Given the description of an element on the screen output the (x, y) to click on. 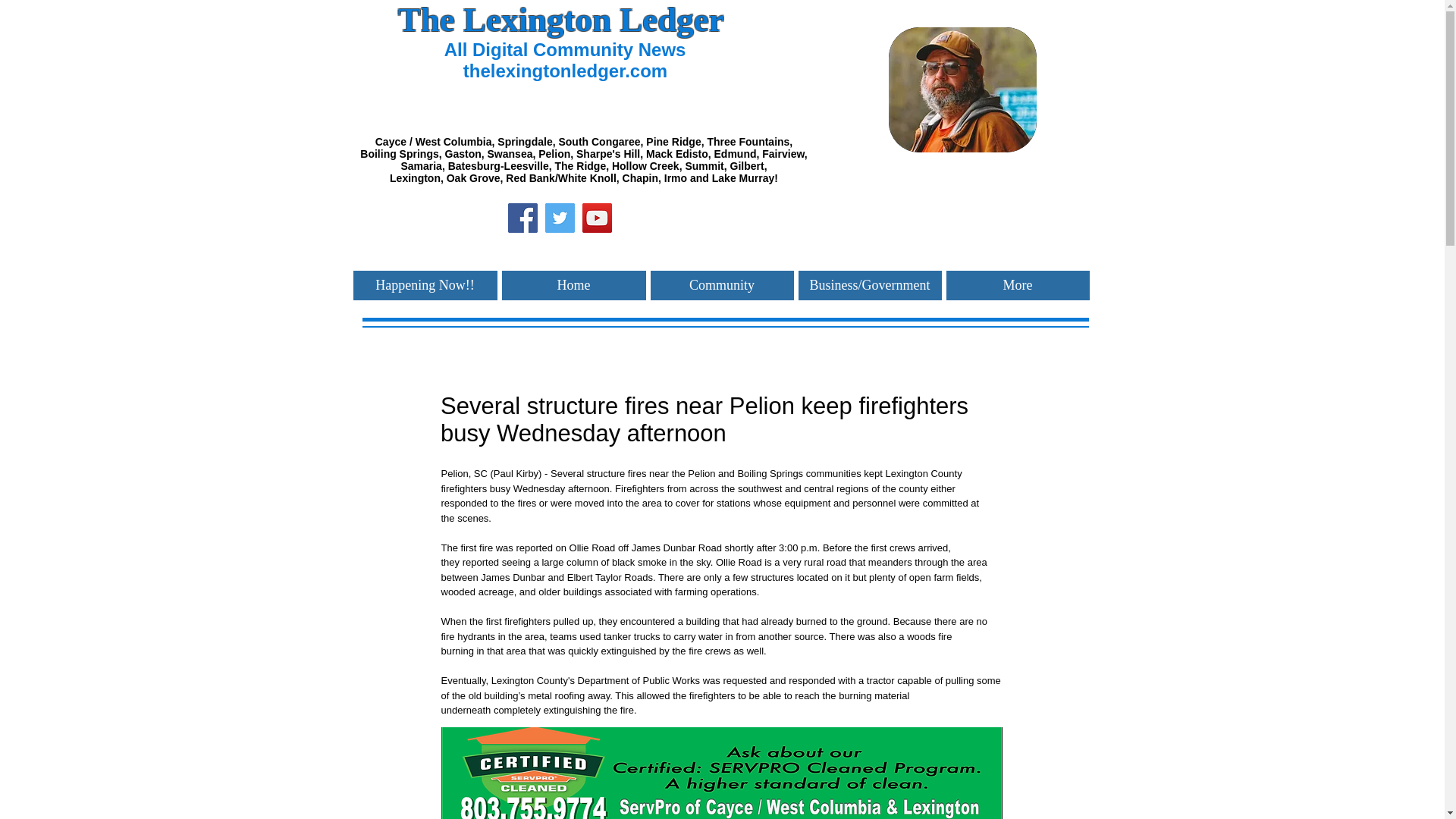
Community (721, 285)
Happening Now!! (425, 285)
Home (574, 285)
